Given the description of an element on the screen output the (x, y) to click on. 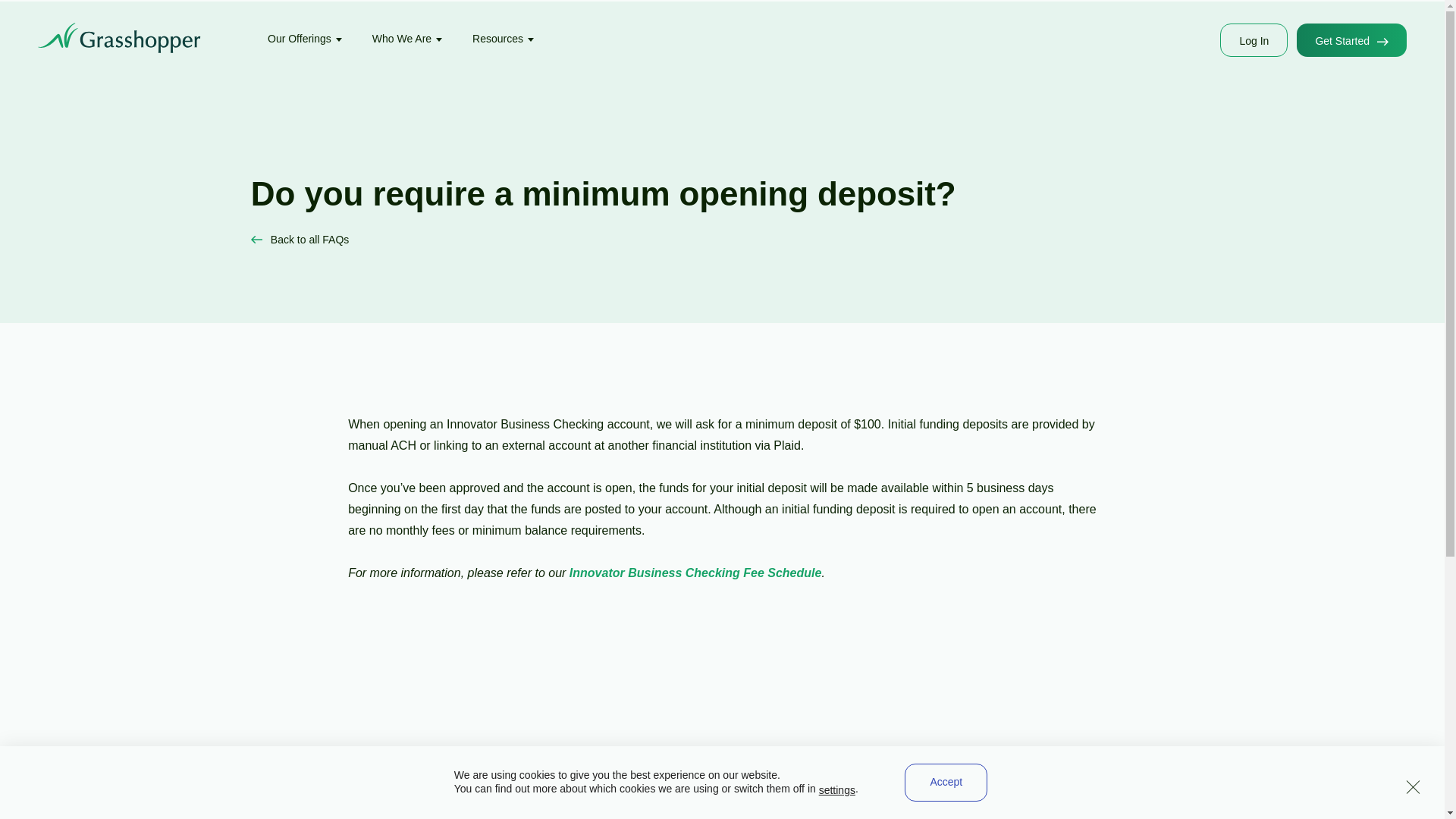
Log In (1253, 39)
Our Offerings (304, 38)
Resources (502, 38)
Who We Are (407, 38)
Innovator Business Checking Fee Schedule (695, 572)
Get Started (1351, 39)
Back to all FAQs (299, 239)
